Given the description of an element on the screen output the (x, y) to click on. 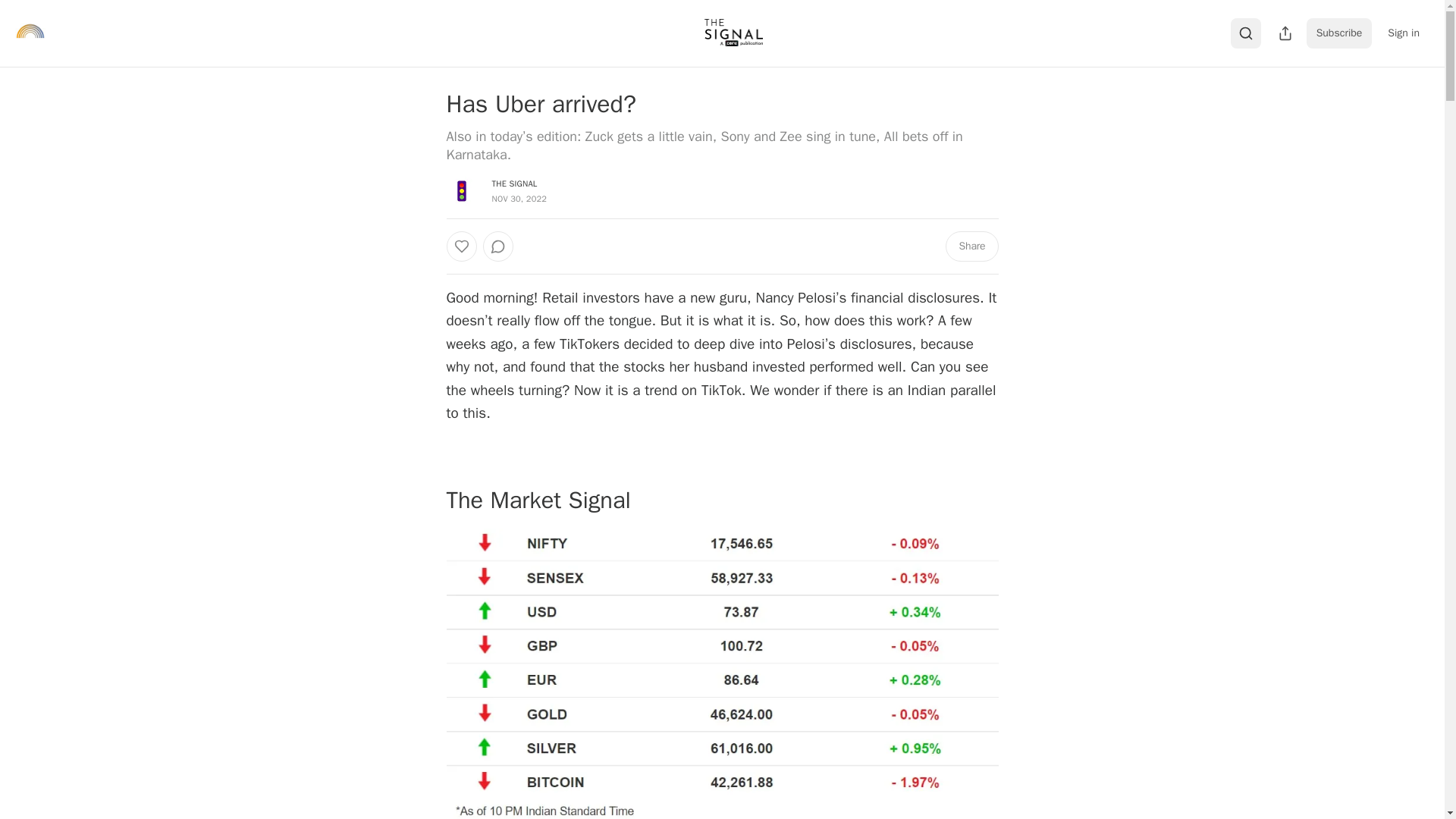
THE SIGNAL (514, 183)
Share (970, 245)
Sign in (1403, 33)
Subscribe (1339, 33)
